Given the description of an element on the screen output the (x, y) to click on. 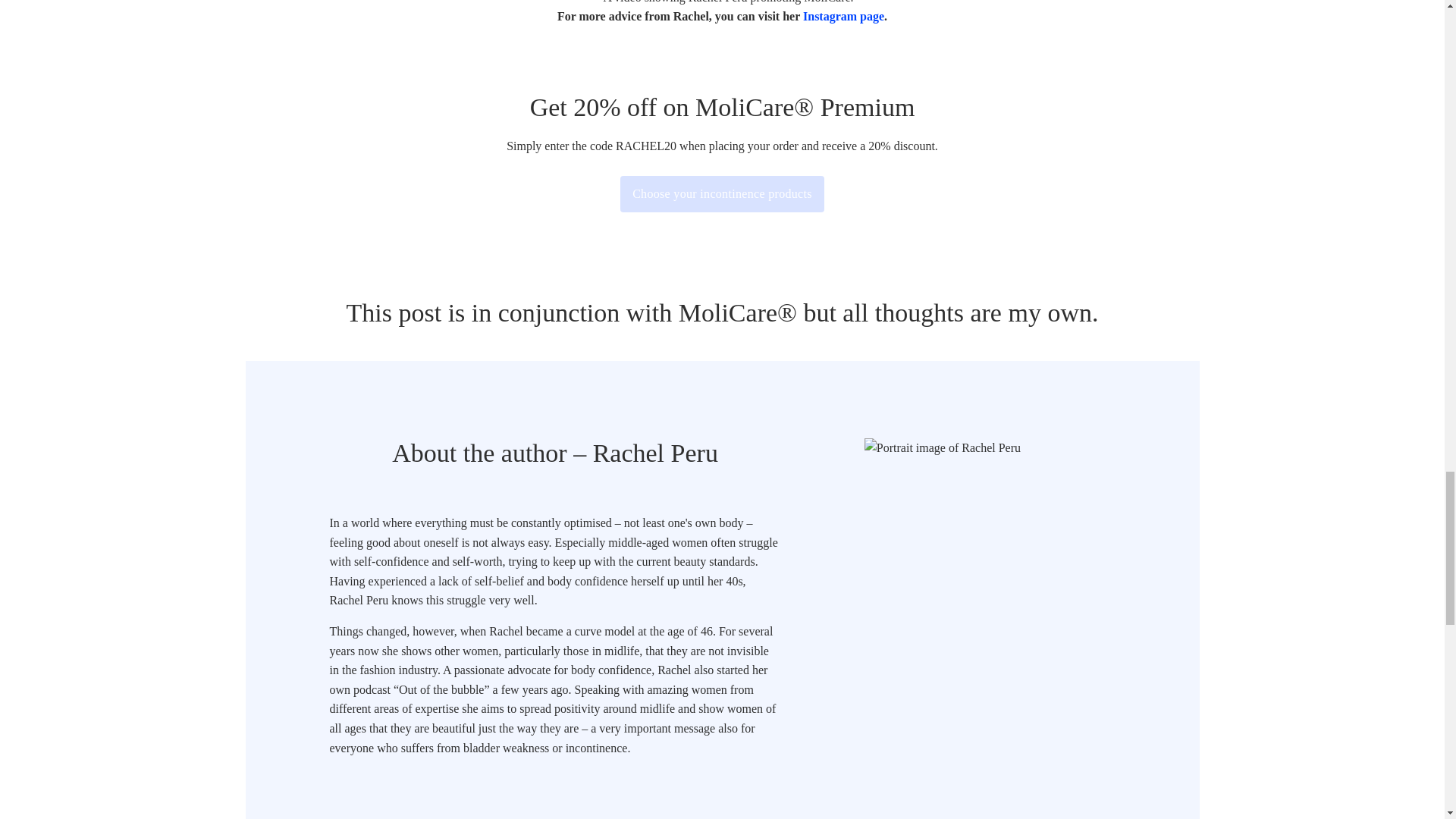
Choose your incontinence products (722, 194)
Choose your incontinence products (721, 193)
Choose your product now (721, 193)
Instagram page (843, 15)
